Given the description of an element on the screen output the (x, y) to click on. 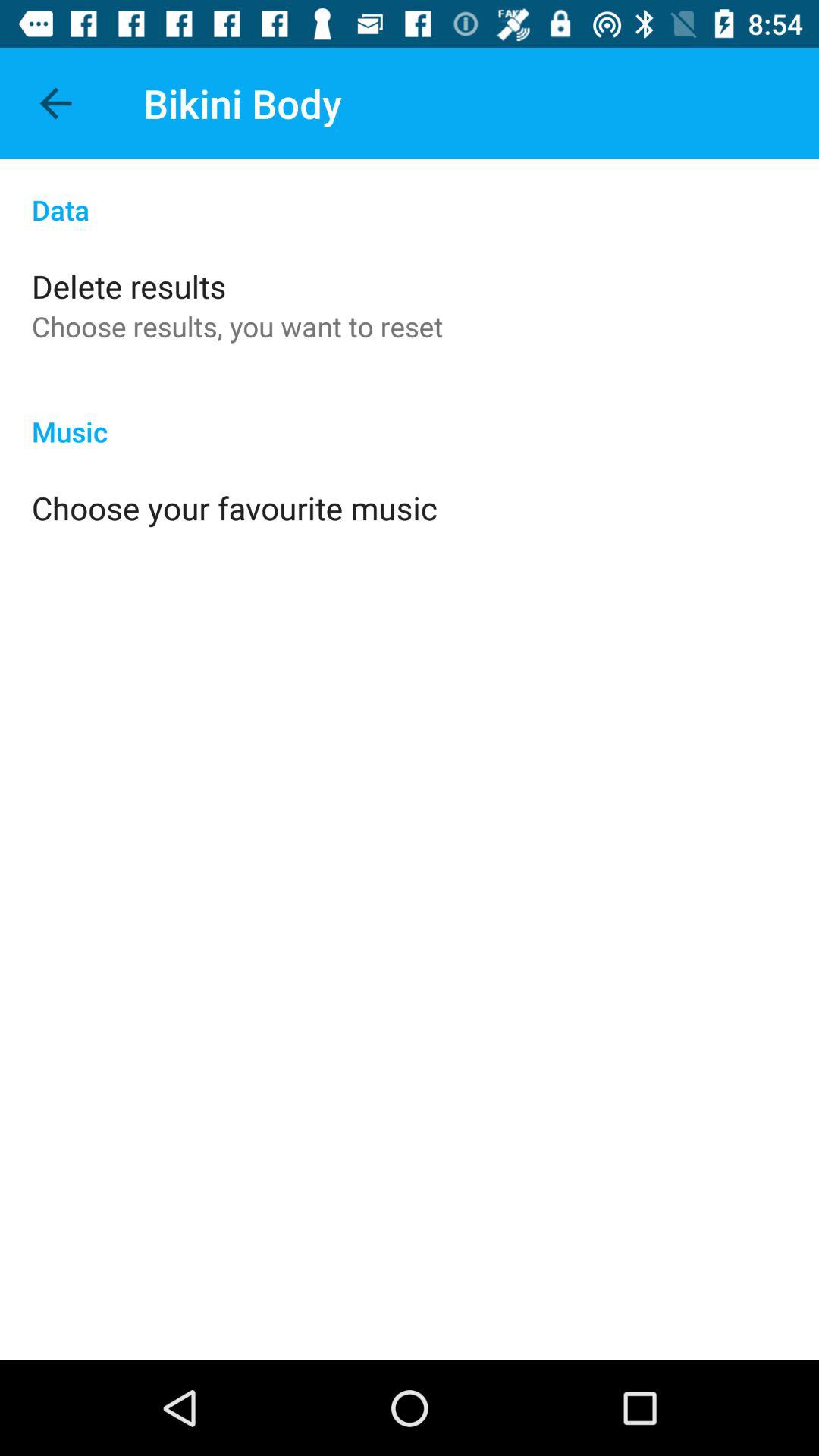
launch app below music app (234, 507)
